Given the description of an element on the screen output the (x, y) to click on. 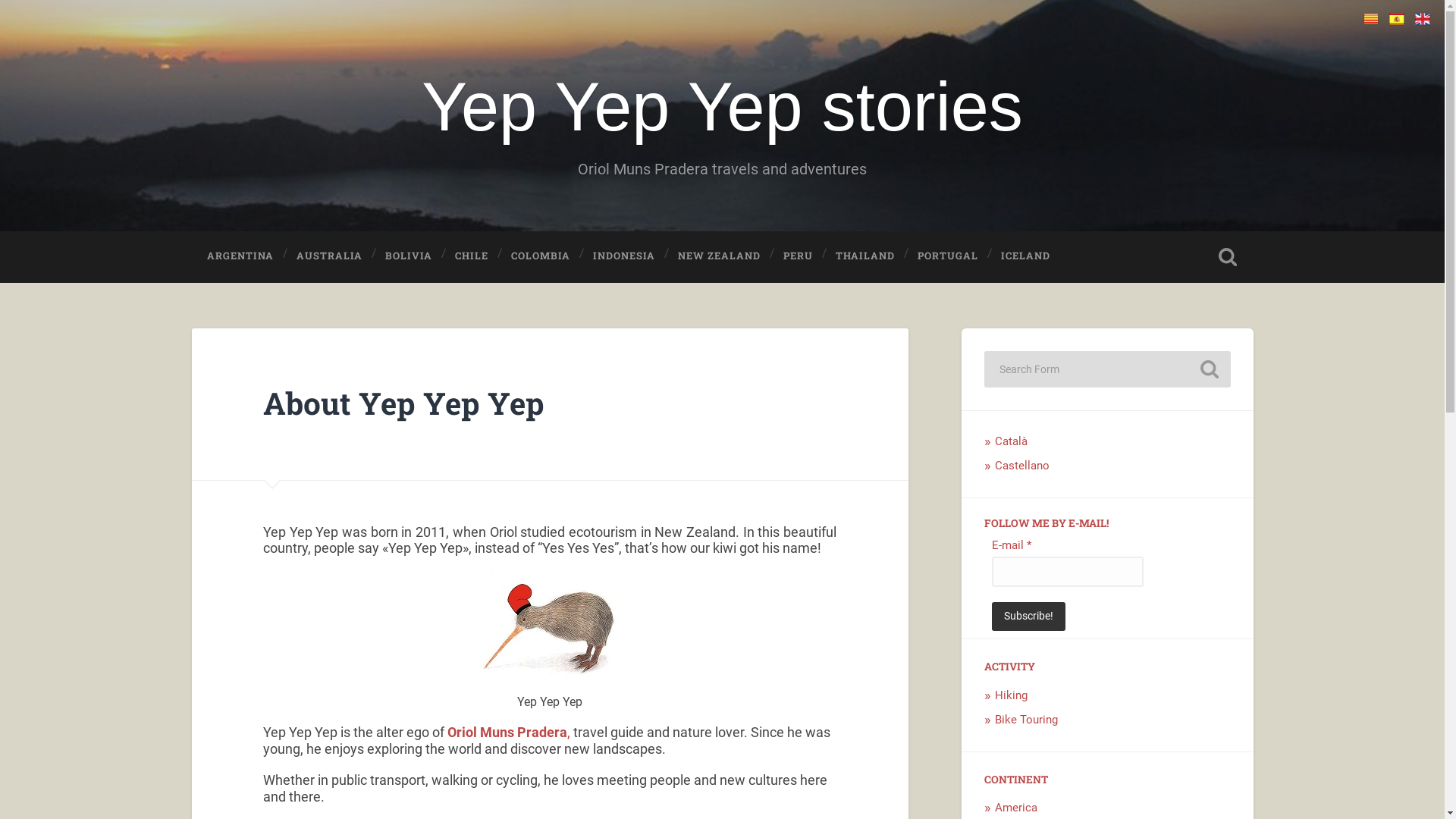
PERU Element type: text (797, 255)
Castellano Element type: text (1021, 465)
Bike Touring Element type: text (1025, 719)
Search Element type: text (1208, 368)
BOLIVIA Element type: text (408, 255)
America Element type: text (1015, 807)
Subscribe! Element type: text (1028, 616)
English  Element type: hover (1422, 18)
Yep Yep Yep stories Element type: text (721, 106)
COLOMBIA Element type: text (540, 255)
Oriol Muns Pradera, Element type: text (508, 732)
THAILAND Element type: text (865, 255)
E-mail Element type: hover (1067, 571)
CHILE Element type: text (471, 255)
PORTUGAL Element type: text (947, 255)
NEW ZEALAND Element type: text (718, 255)
ICELAND Element type: text (1025, 255)
Spain  Element type: hover (1396, 18)
AUSTRALIA Element type: text (328, 255)
INDONESIA Element type: text (623, 255)
ARGENTINA Element type: text (239, 255)
Hiking Element type: text (1010, 695)
Catalan Element type: hover (1370, 18)
